Given the description of an element on the screen output the (x, y) to click on. 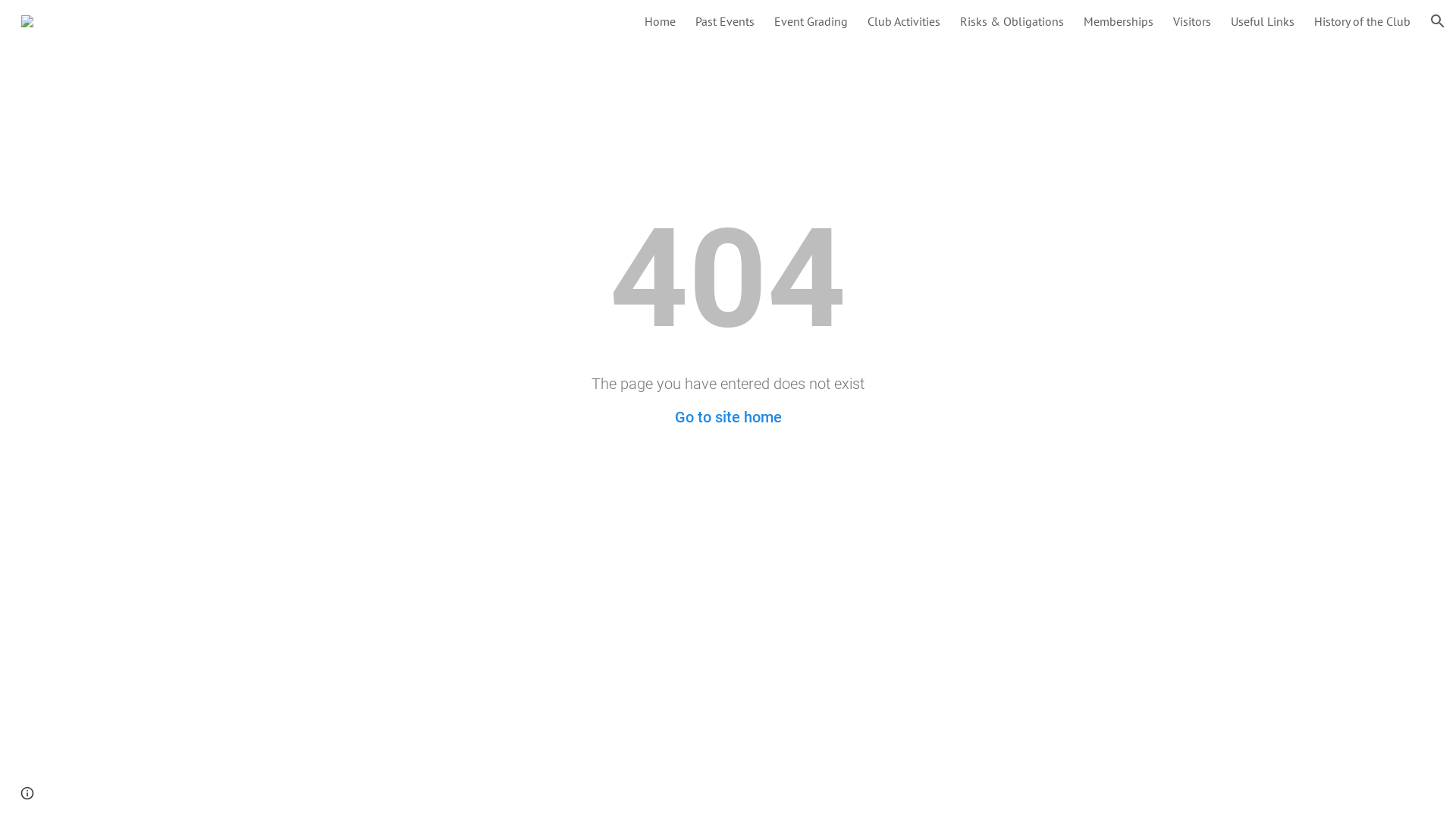
Memberships Element type: text (1118, 20)
Risks & Obligations Element type: text (1011, 20)
Useful Links Element type: text (1262, 20)
Go to site home Element type: text (727, 416)
Past Events Element type: text (724, 20)
Event Grading Element type: text (810, 20)
Club Activities Element type: text (903, 20)
Visitors Element type: text (1192, 20)
Home Element type: text (659, 20)
History of the Club Element type: text (1362, 20)
